Given the description of an element on the screen output the (x, y) to click on. 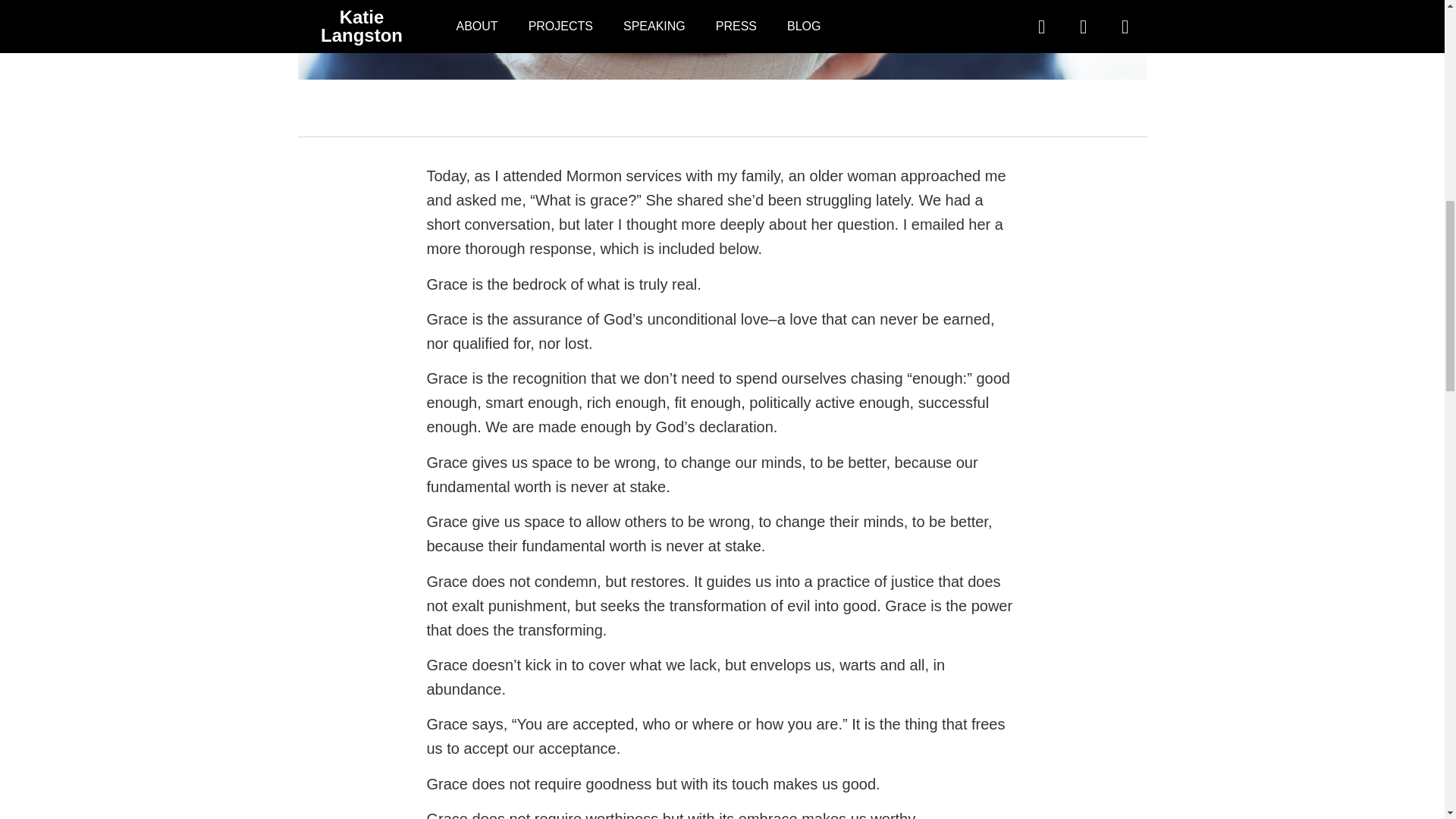
kate-remmer-206795-unsplash (722, 39)
